Given the description of an element on the screen output the (x, y) to click on. 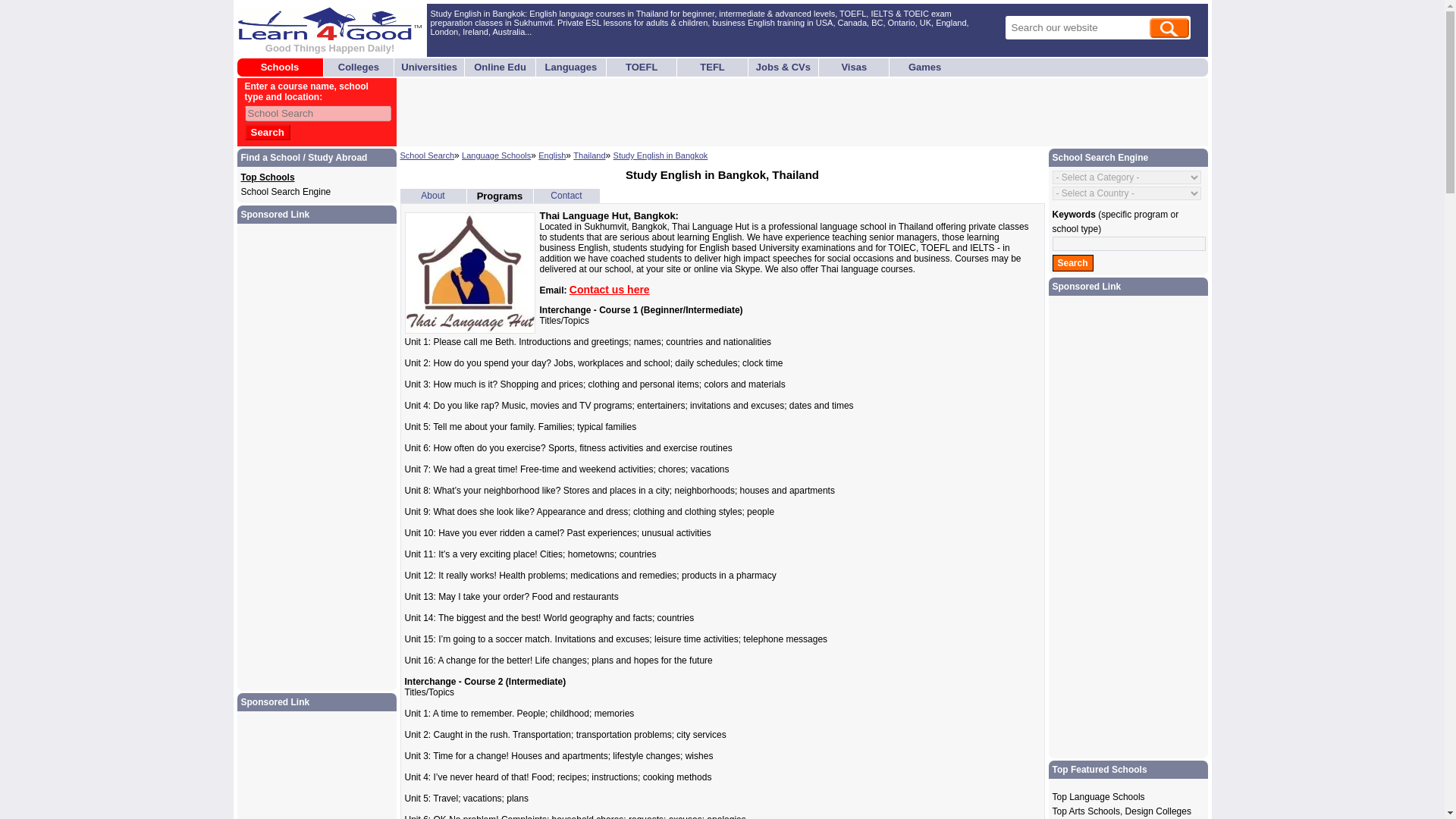
Schools (279, 66)
School Search (427, 154)
Search (266, 132)
Language Schools (496, 154)
TEFL (712, 66)
Online Edu (499, 66)
Contact (565, 195)
Languages (570, 66)
Visas (853, 66)
TOEFL (642, 66)
Search (266, 132)
Programs (499, 195)
Colleges (357, 66)
About (432, 195)
Study English in Bangkok (659, 154)
